Given the description of an element on the screen output the (x, y) to click on. 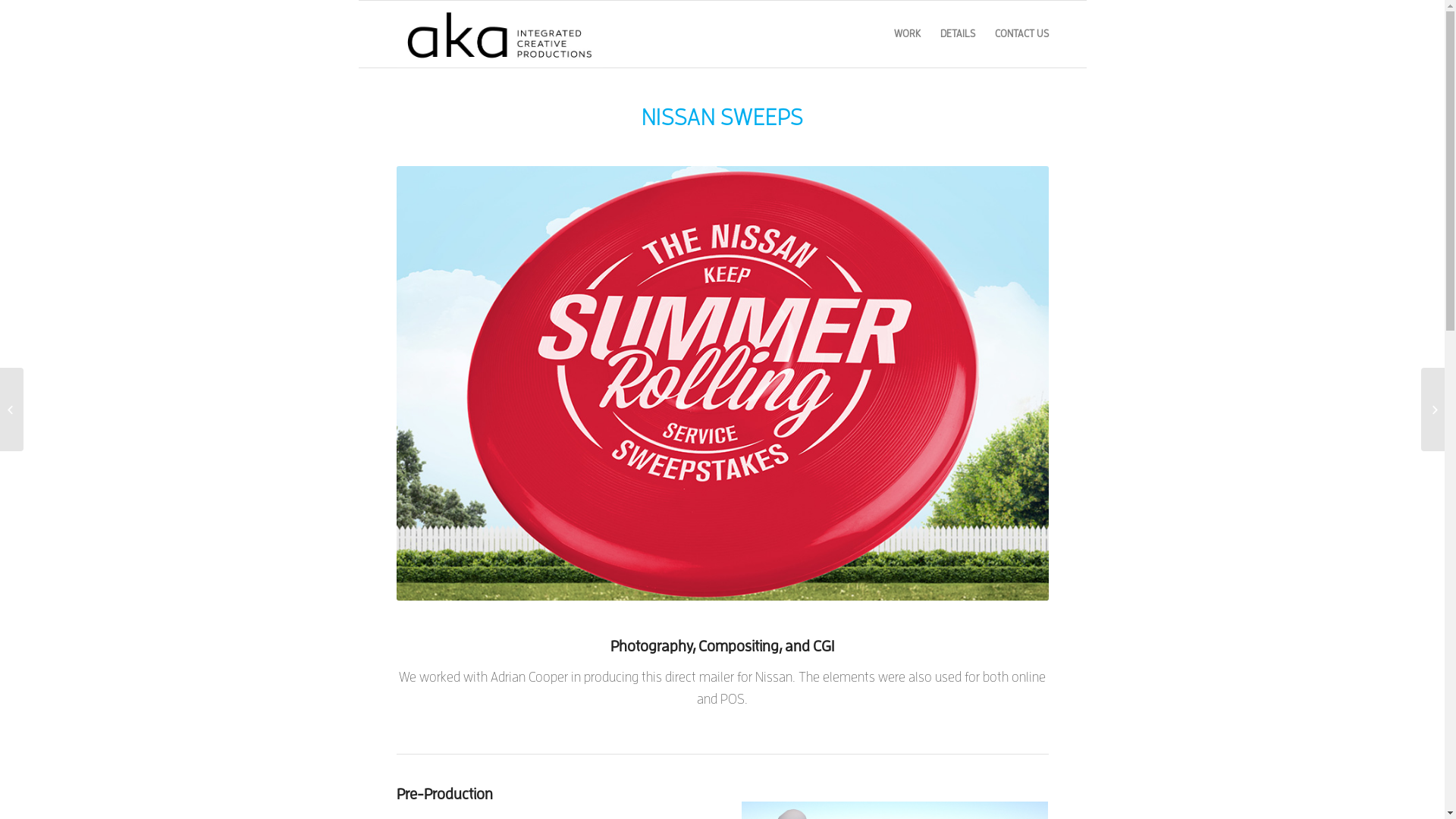
WORK Element type: text (907, 33)
DETAILS Element type: text (956, 33)
CONTACT US Element type: text (1016, 33)
Nissan-Sweeps-2014-960x640-Frisbee Element type: hover (721, 383)
